Given the description of an element on the screen output the (x, y) to click on. 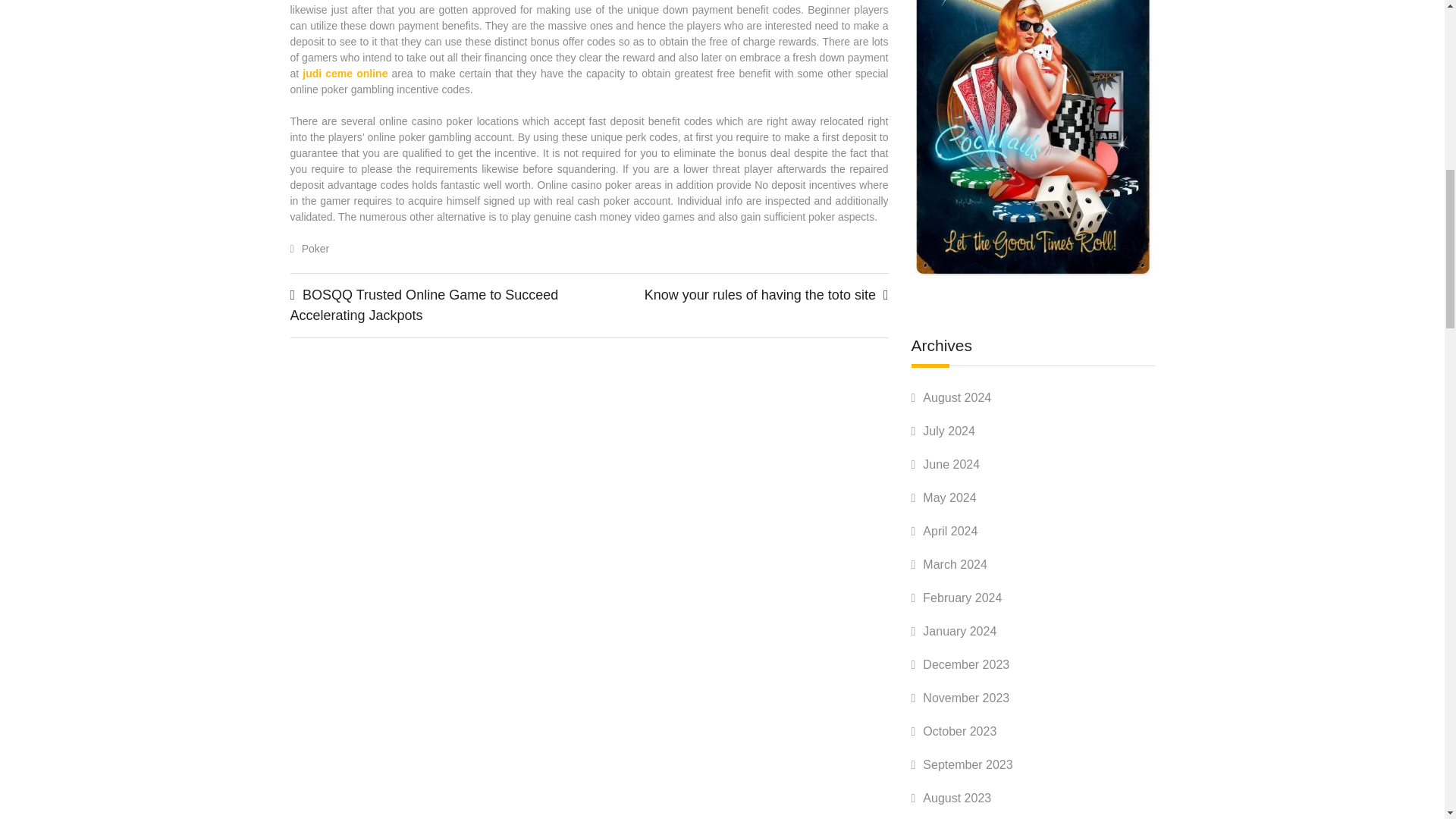
August 2024 (957, 397)
January 2024 (959, 631)
August 2023 (957, 797)
May 2024 (949, 497)
Know your rules of having the toto site (760, 294)
December 2023 (966, 664)
judi ceme online (344, 73)
October 2023 (959, 730)
November 2023 (966, 697)
April 2024 (949, 530)
